Given the description of an element on the screen output the (x, y) to click on. 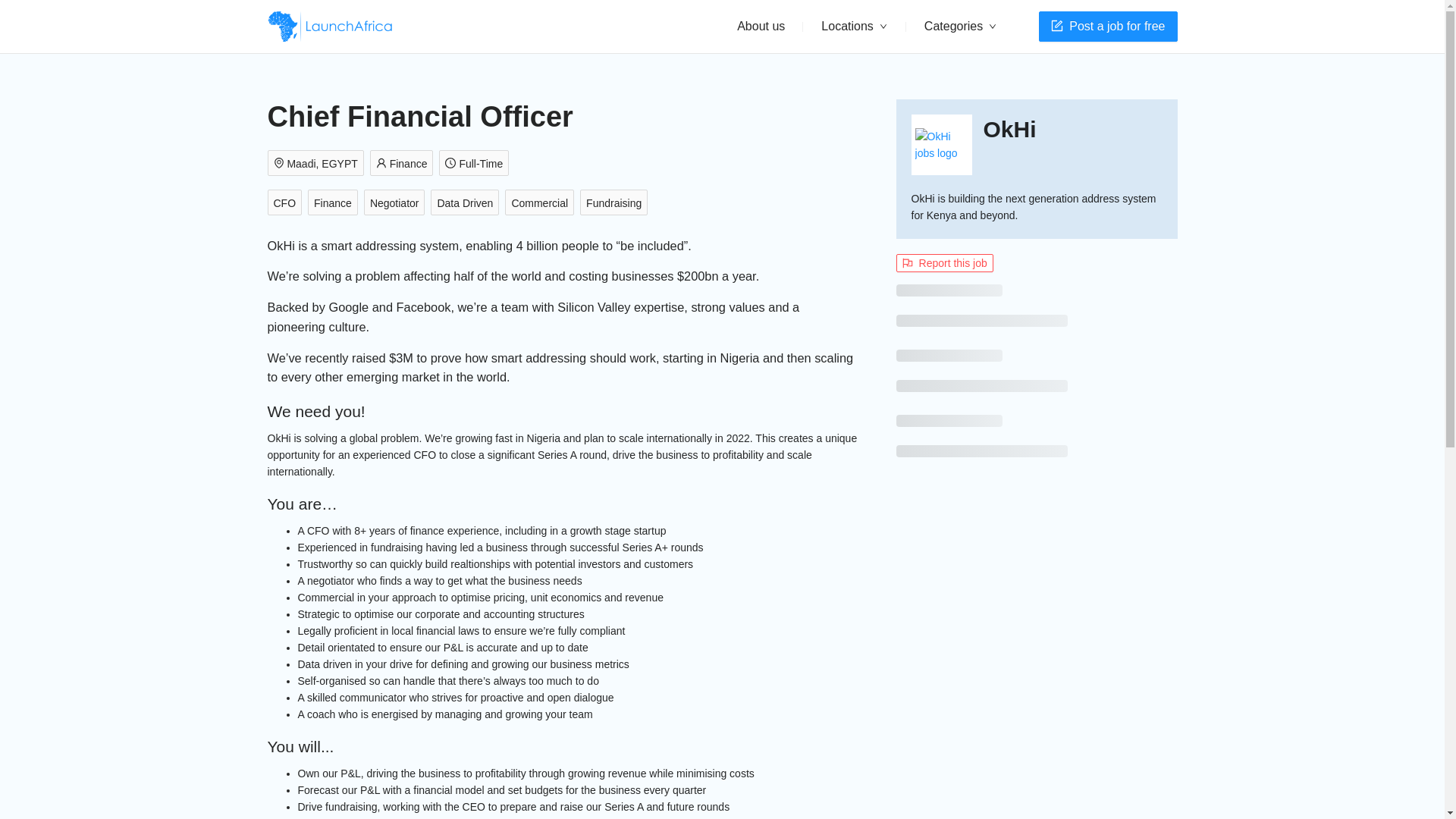
Report this job (944, 262)
Post a job for free (1107, 26)
Categories (960, 26)
Report this job post (944, 262)
Locations (854, 26)
Finance (404, 163)
CFO (286, 203)
About us (760, 25)
Maadi, EGYPT (317, 163)
Commercial (542, 203)
